Given the description of an element on the screen output the (x, y) to click on. 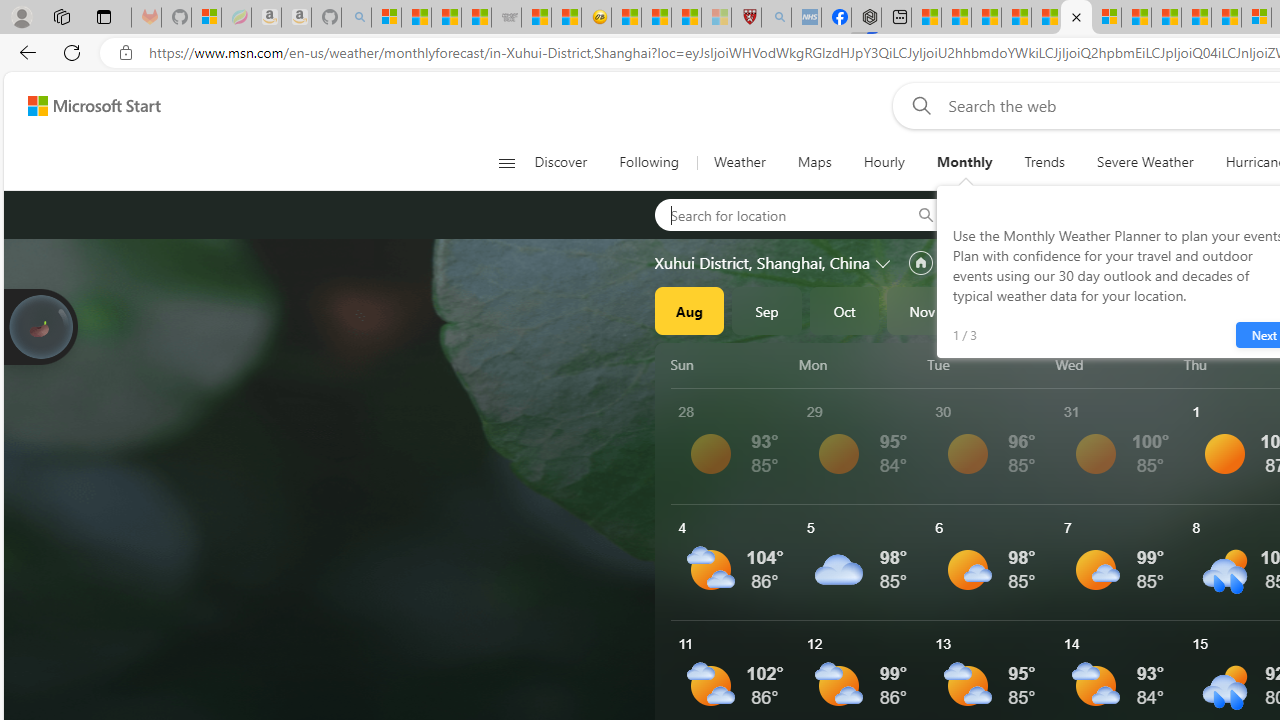
Class: button-glyph (505, 162)
Maps (814, 162)
Recipes - MSN (626, 17)
Combat Siege (505, 17)
2025Jan (1077, 310)
Open navigation menu (506, 162)
Search for location (776, 214)
Mon (859, 363)
